Given the description of an element on the screen output the (x, y) to click on. 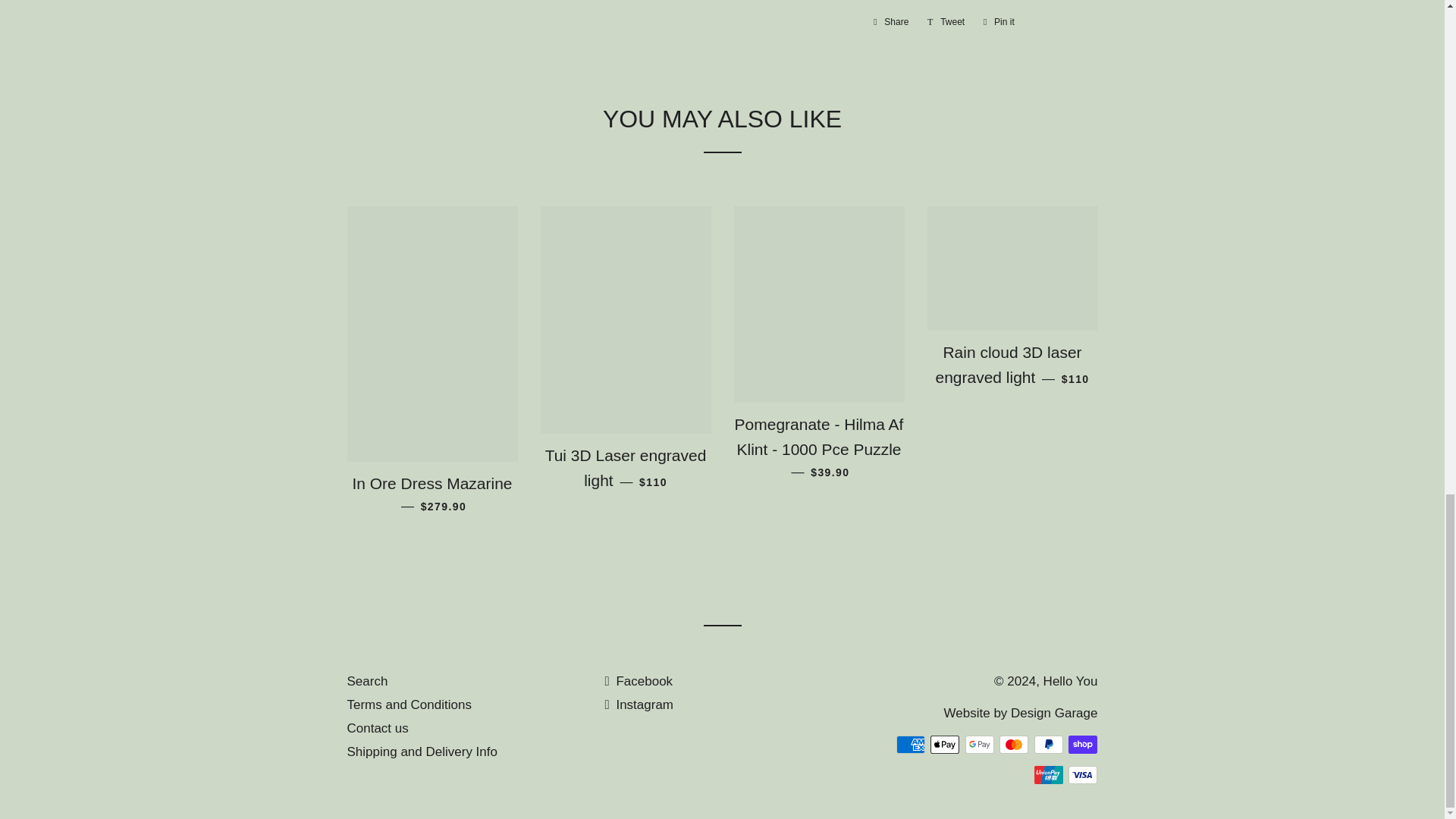
American Express (910, 744)
Shop Pay (1082, 744)
Union Pay (1047, 774)
Apple Pay (944, 744)
Google Pay (979, 744)
PayPal (1047, 744)
Hello You on Instagram (638, 704)
Visa (1082, 774)
Tweet on Twitter (946, 21)
Mastercard (1012, 744)
Pin on Pinterest (998, 21)
Hello You on Facebook (638, 681)
Share on Facebook (890, 21)
